Given the description of an element on the screen output the (x, y) to click on. 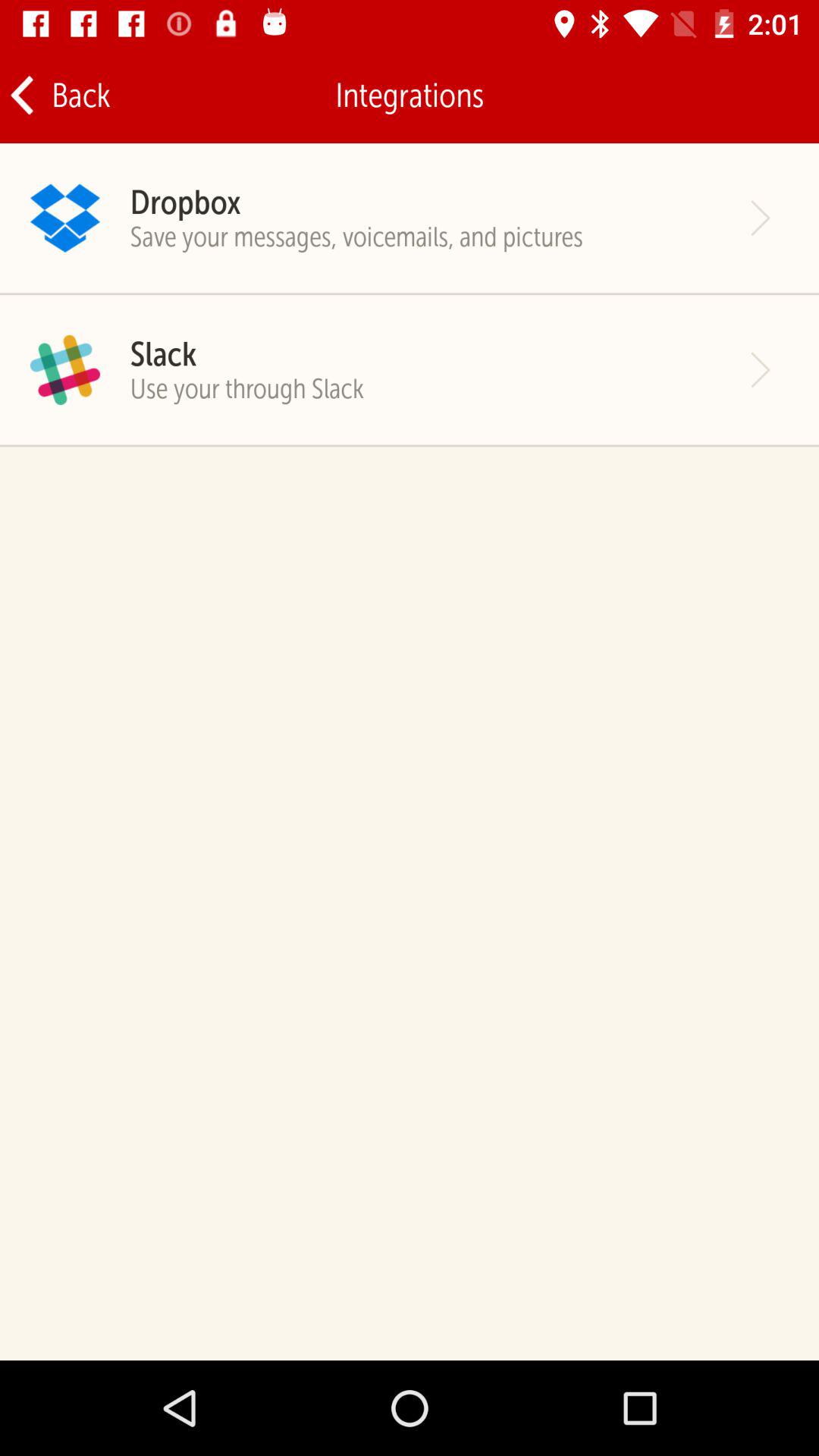
press item below the slack icon (247, 388)
